Given the description of an element on the screen output the (x, y) to click on. 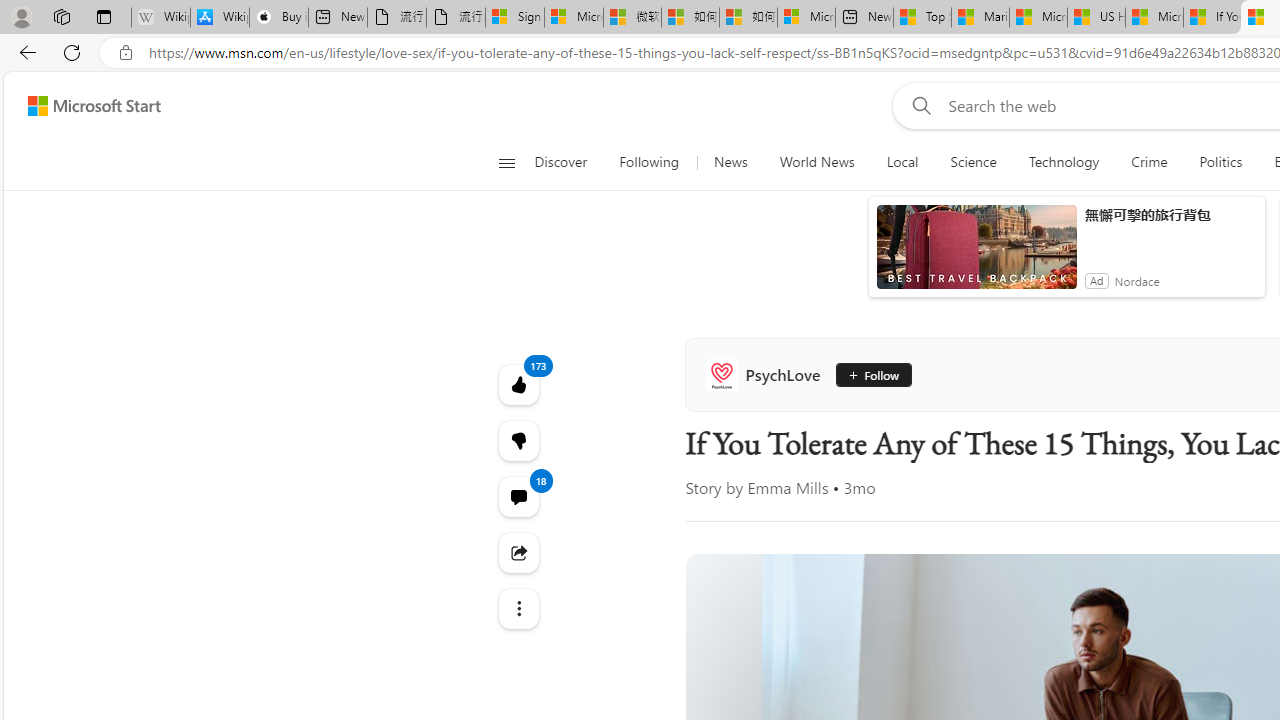
173 Like (517, 384)
US Heat Deaths Soared To Record High Last Year (1096, 17)
Top Stories - MSN (922, 17)
Class: button-glyph (505, 162)
World News (816, 162)
View comments 18 Comment (517, 496)
